Given the description of an element on the screen output the (x, y) to click on. 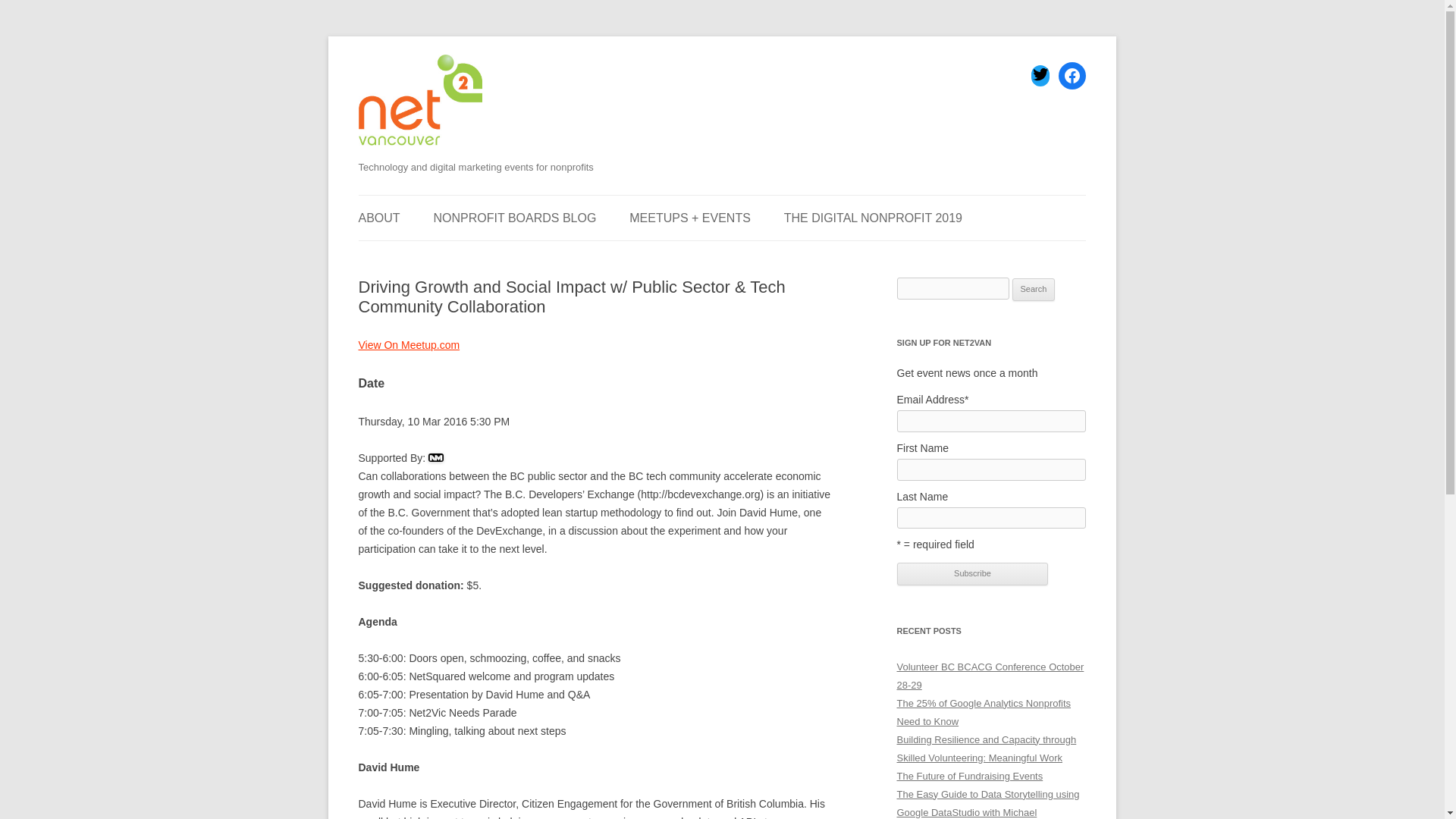
View On Meetup.com (409, 345)
Facebook (1072, 75)
THE DIGITAL NONPROFIT 2019 (873, 217)
SUGGEST AN EVENT (433, 255)
Subscribe (972, 573)
ABOUT (378, 217)
Search (1033, 289)
Subscribe (972, 573)
Search (1033, 289)
Volunteer BC BCACG Conference October 28-29 (989, 675)
NONPROFIT BOARDS BLOG (514, 217)
